Given the description of an element on the screen output the (x, y) to click on. 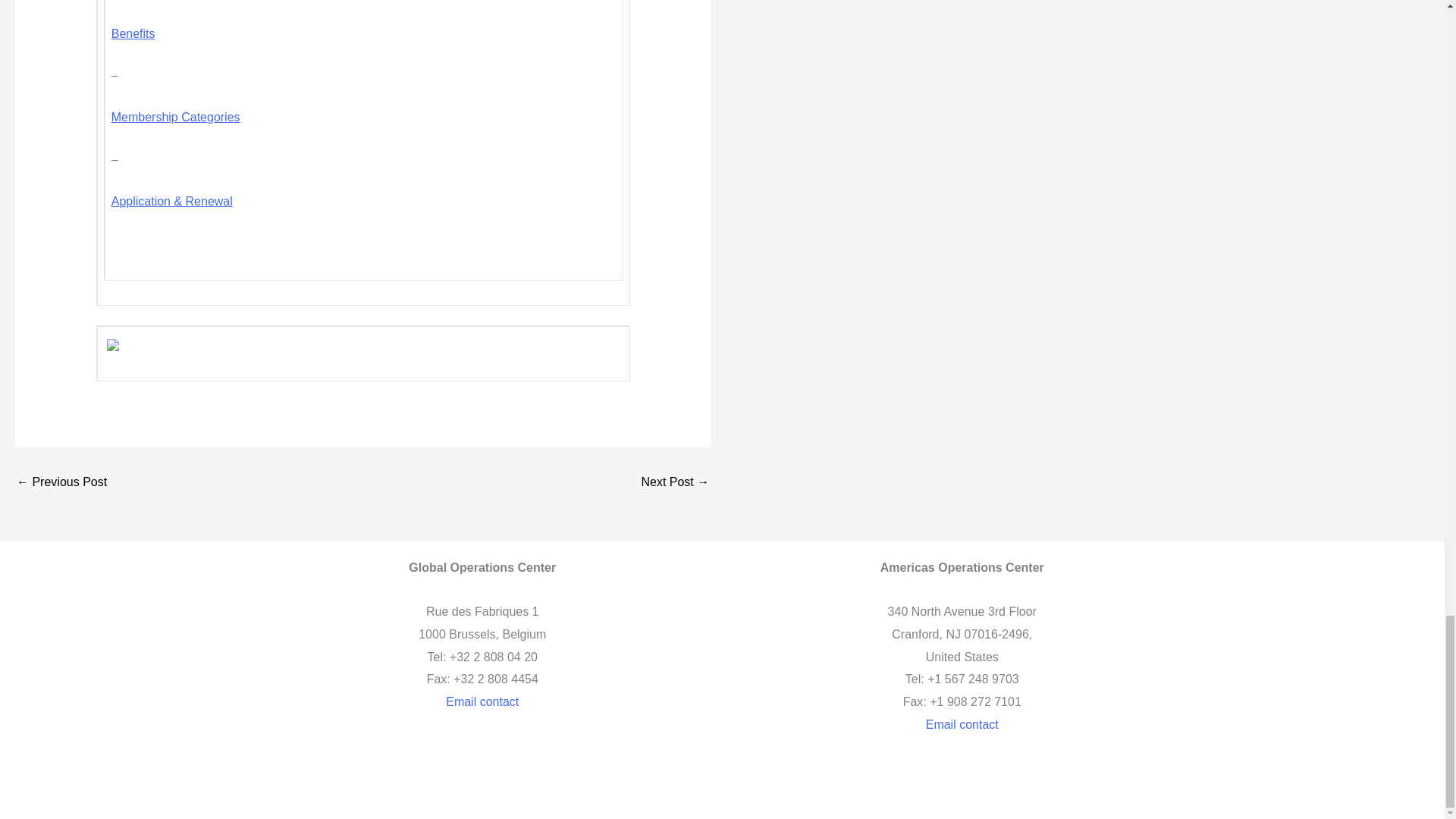
Welcome to ISN (61, 481)
Welcome to ISN (674, 481)
